Given the description of an element on the screen output the (x, y) to click on. 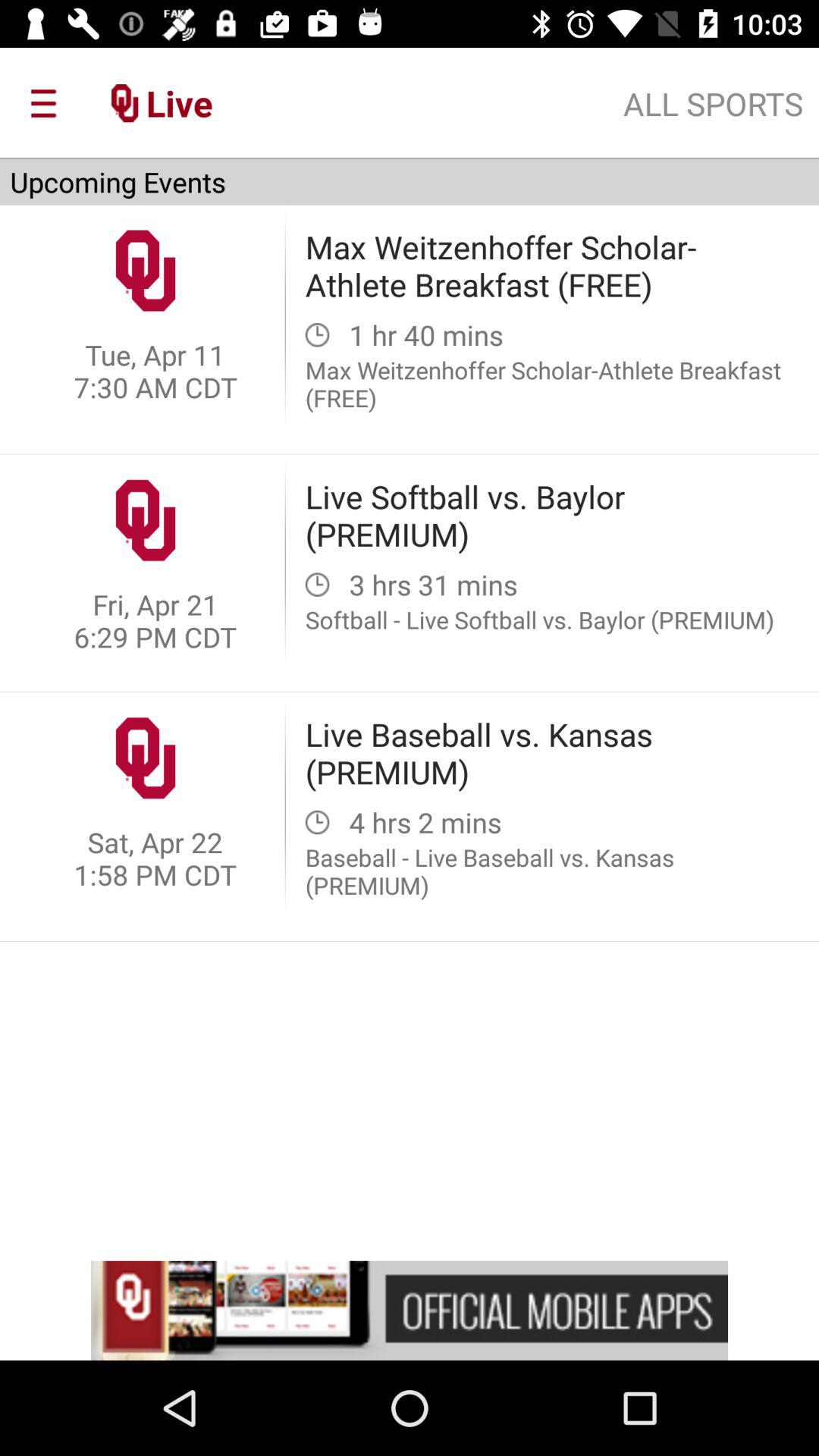
switch to a phone site (409, 1310)
